Given the description of an element on the screen output the (x, y) to click on. 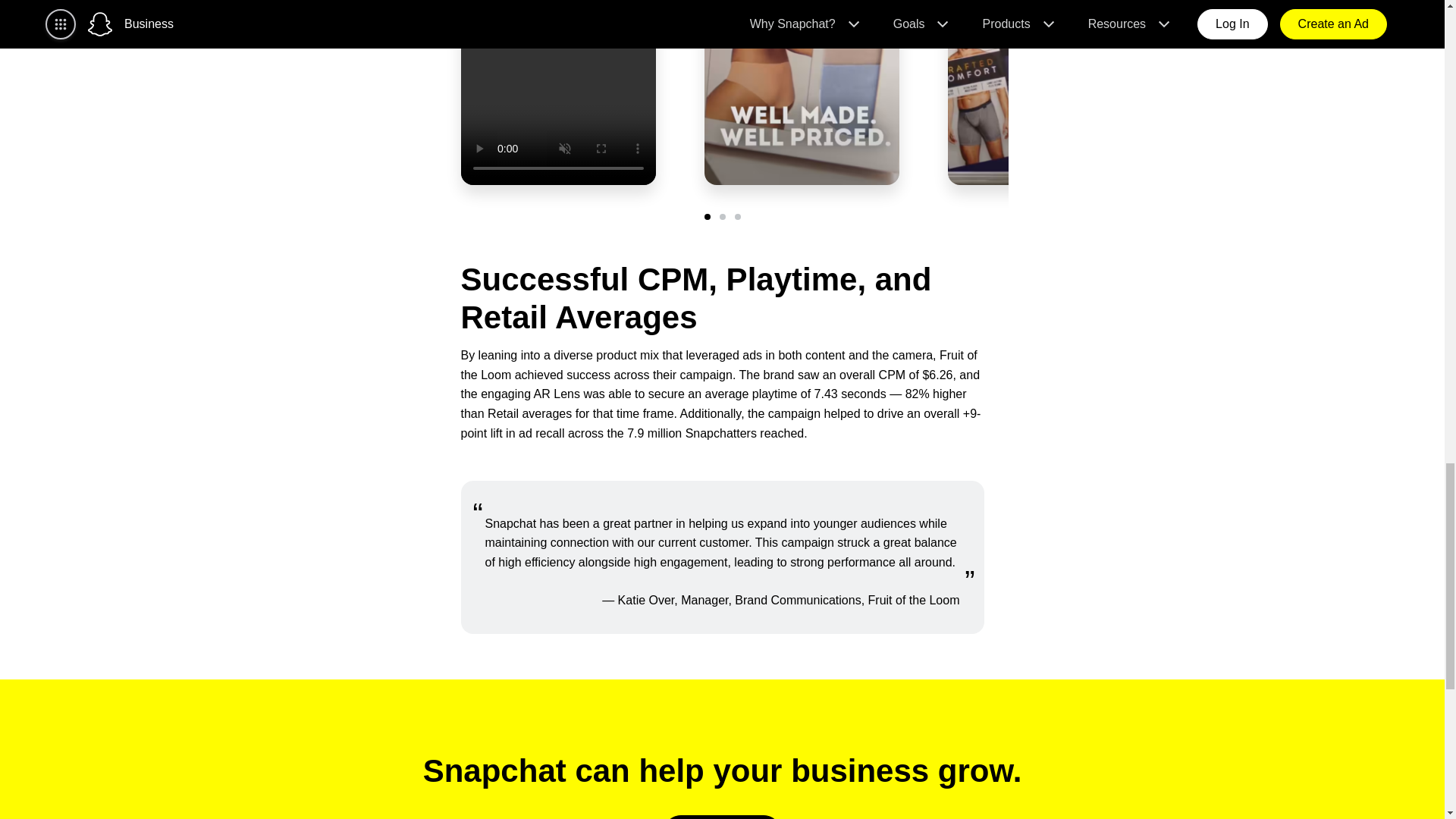
Create an Ad (721, 816)
